Given the description of an element on the screen output the (x, y) to click on. 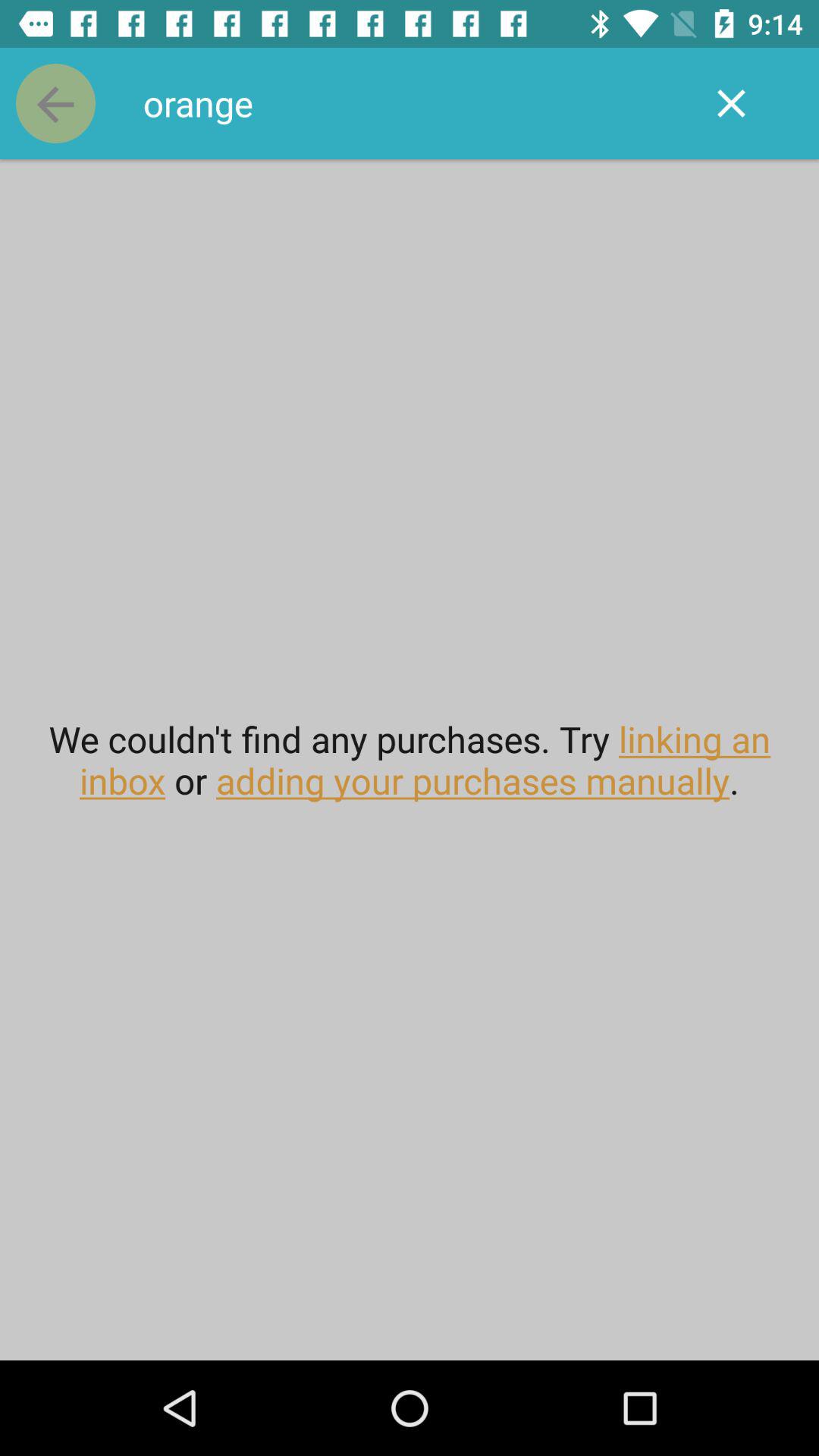
turn on the icon next to the orange (55, 103)
